Given the description of an element on the screen output the (x, y) to click on. 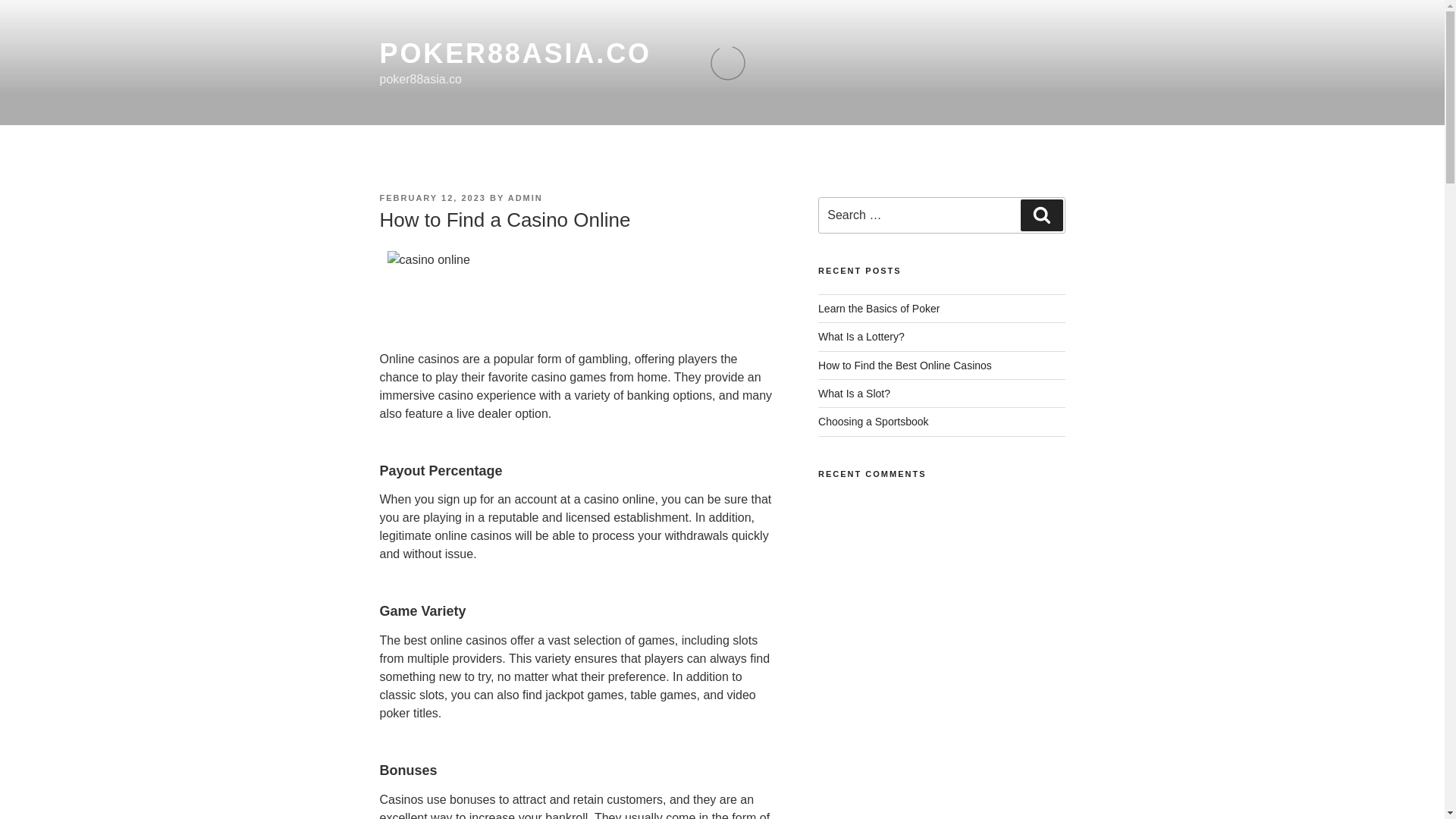
Search (1041, 214)
ADMIN (525, 197)
How to Find the Best Online Casinos (904, 365)
What Is a Slot? (853, 393)
What Is a Lottery? (861, 336)
POKER88ASIA.CO (514, 52)
Learn the Basics of Poker (878, 308)
Choosing a Sportsbook (873, 421)
FEBRUARY 12, 2023 (431, 197)
